Given the description of an element on the screen output the (x, y) to click on. 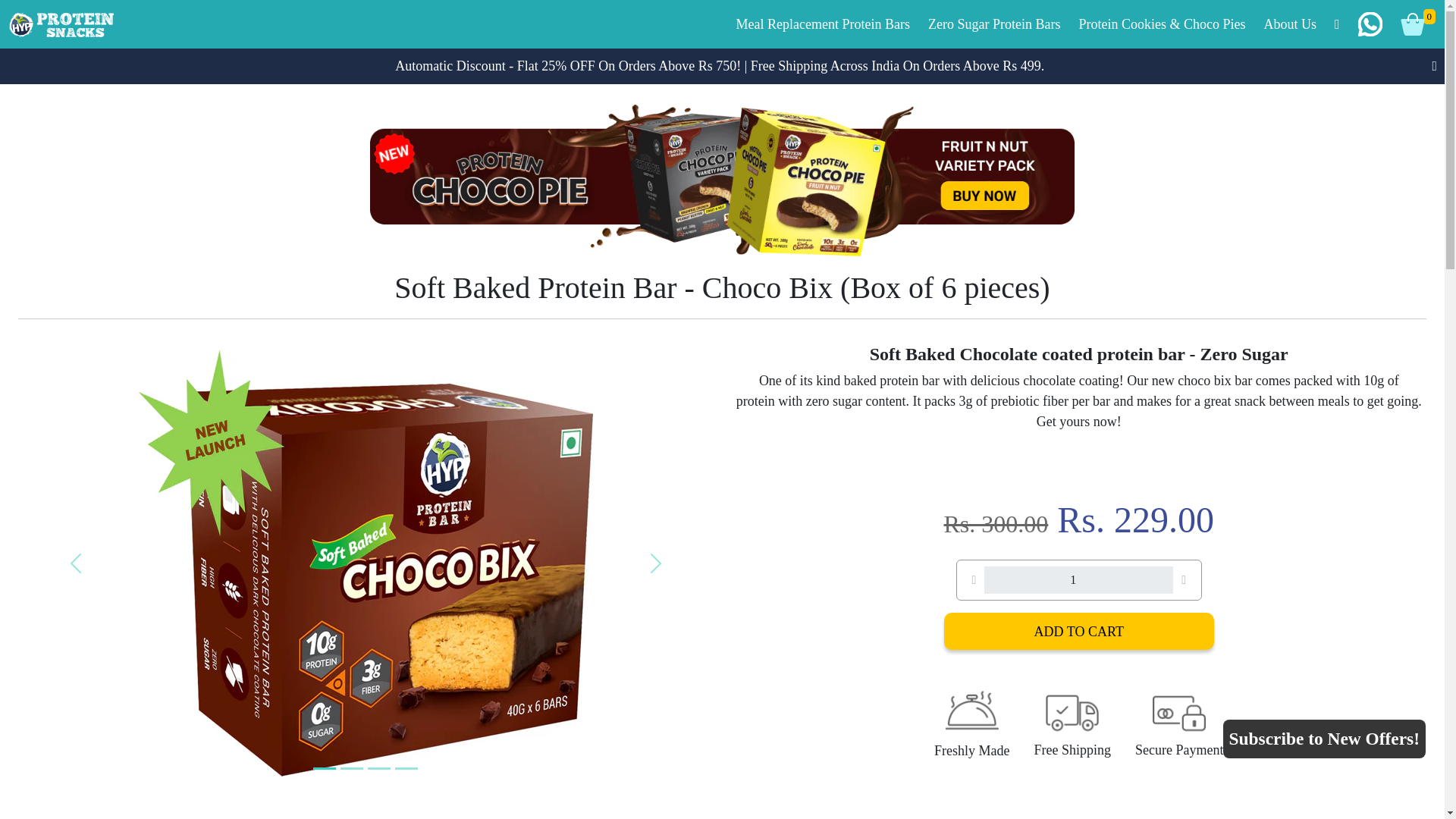
ADD TO CART (1078, 631)
Next (655, 563)
0 (1414, 23)
Meal Replacement Protein Bars (822, 23)
Previous (75, 563)
1 (1078, 579)
About Us (1289, 23)
Zero Sugar Protein Bars (993, 23)
